Given the description of an element on the screen output the (x, y) to click on. 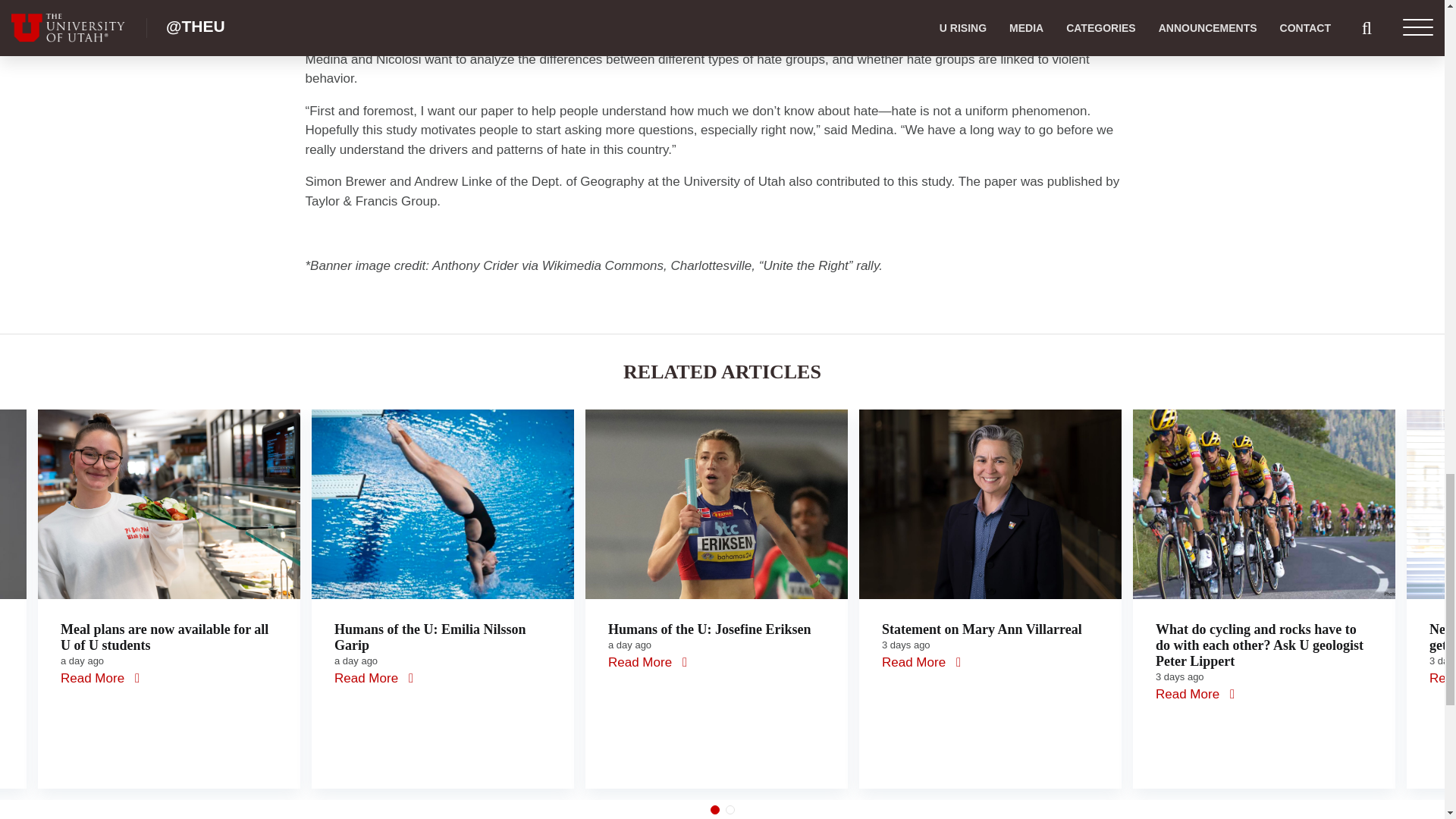
July 17, 2024 (355, 660)
July 17, 2024 (82, 660)
July 15, 2024 (1180, 676)
July 17, 2024 (629, 644)
July 15, 2024 (906, 644)
